Given the description of an element on the screen output the (x, y) to click on. 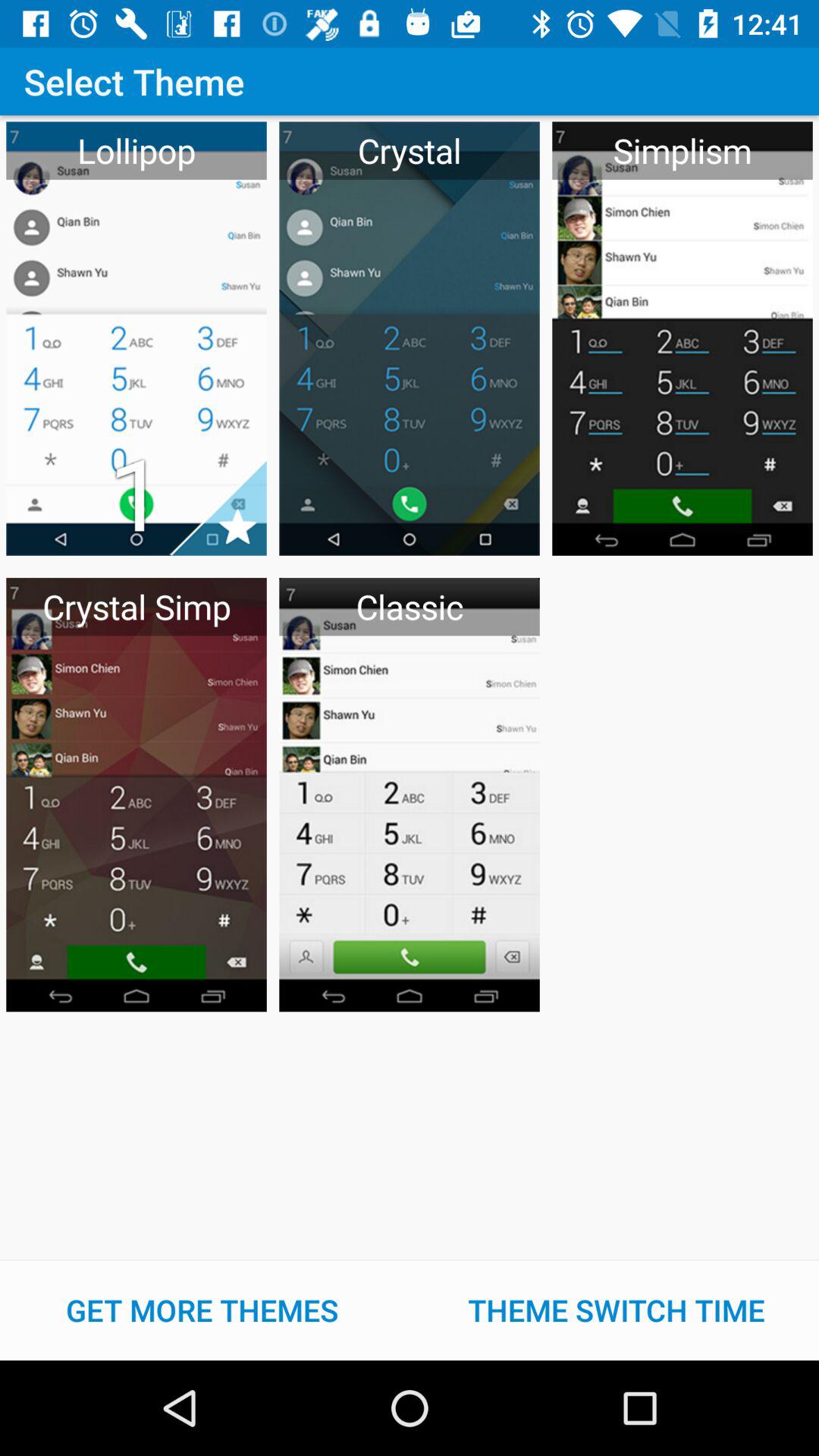
turn on the item to the right of the get more themes button (616, 1310)
